Given the description of an element on the screen output the (x, y) to click on. 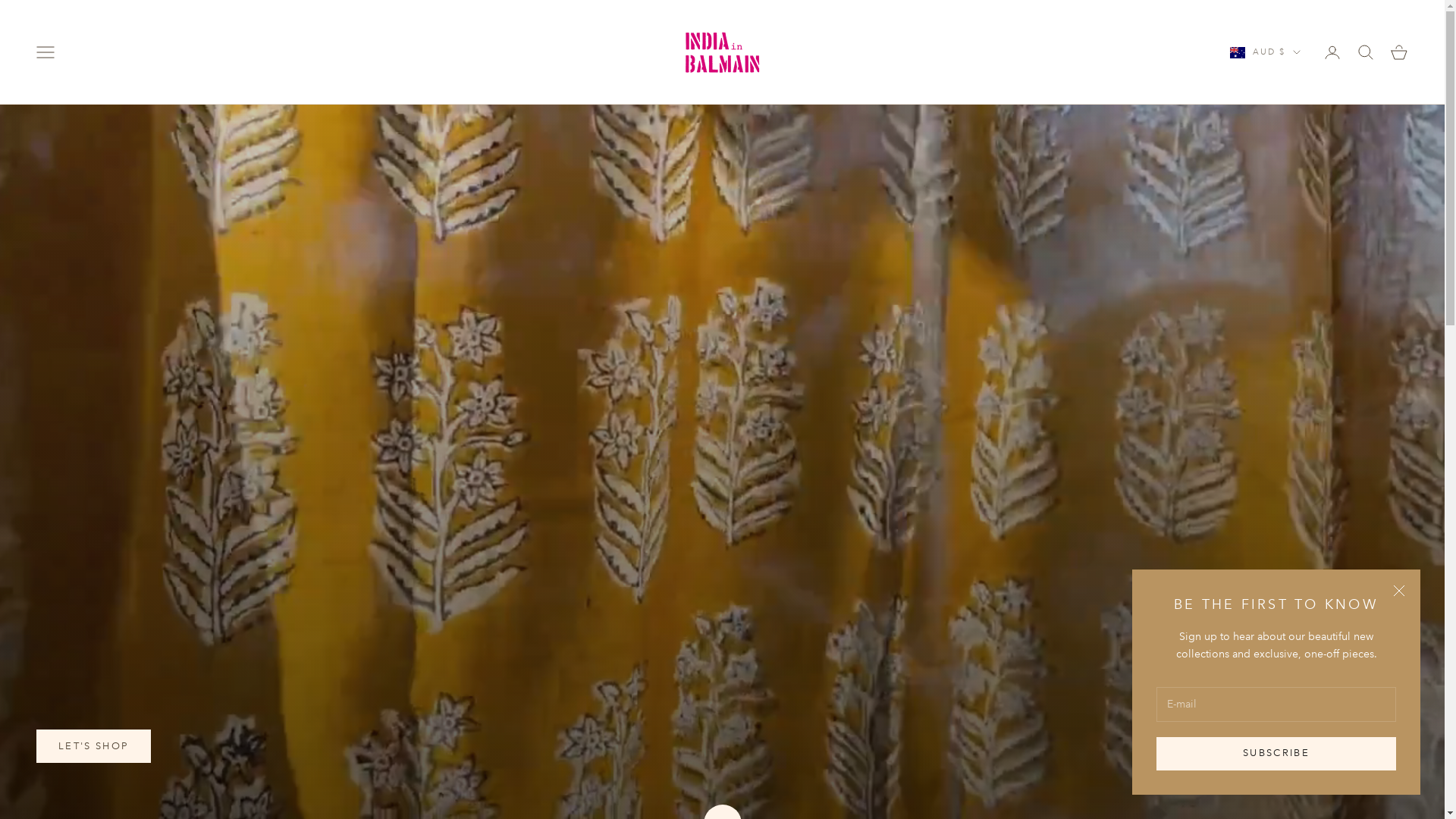
Close Element type: text (1399, 590)
TEXTILE BOOK Element type: text (250, 745)
Go to item 1 Element type: text (1355, 784)
Open cart Element type: text (1399, 52)
OUR STORY Element type: text (102, 745)
AUD $ Element type: text (1265, 52)
Go to item 3 Element type: text (1388, 784)
Open navigation menu Element type: text (45, 52)
INDIA in BALMAIN Element type: text (721, 52)
Go to item 4 Element type: text (1405, 784)
Open search Element type: text (1365, 52)
Open account page Element type: text (1332, 52)
SUBSCRIBE Element type: text (1276, 753)
Go to item 2 Element type: text (1372, 784)
